Given the description of an element on the screen output the (x, y) to click on. 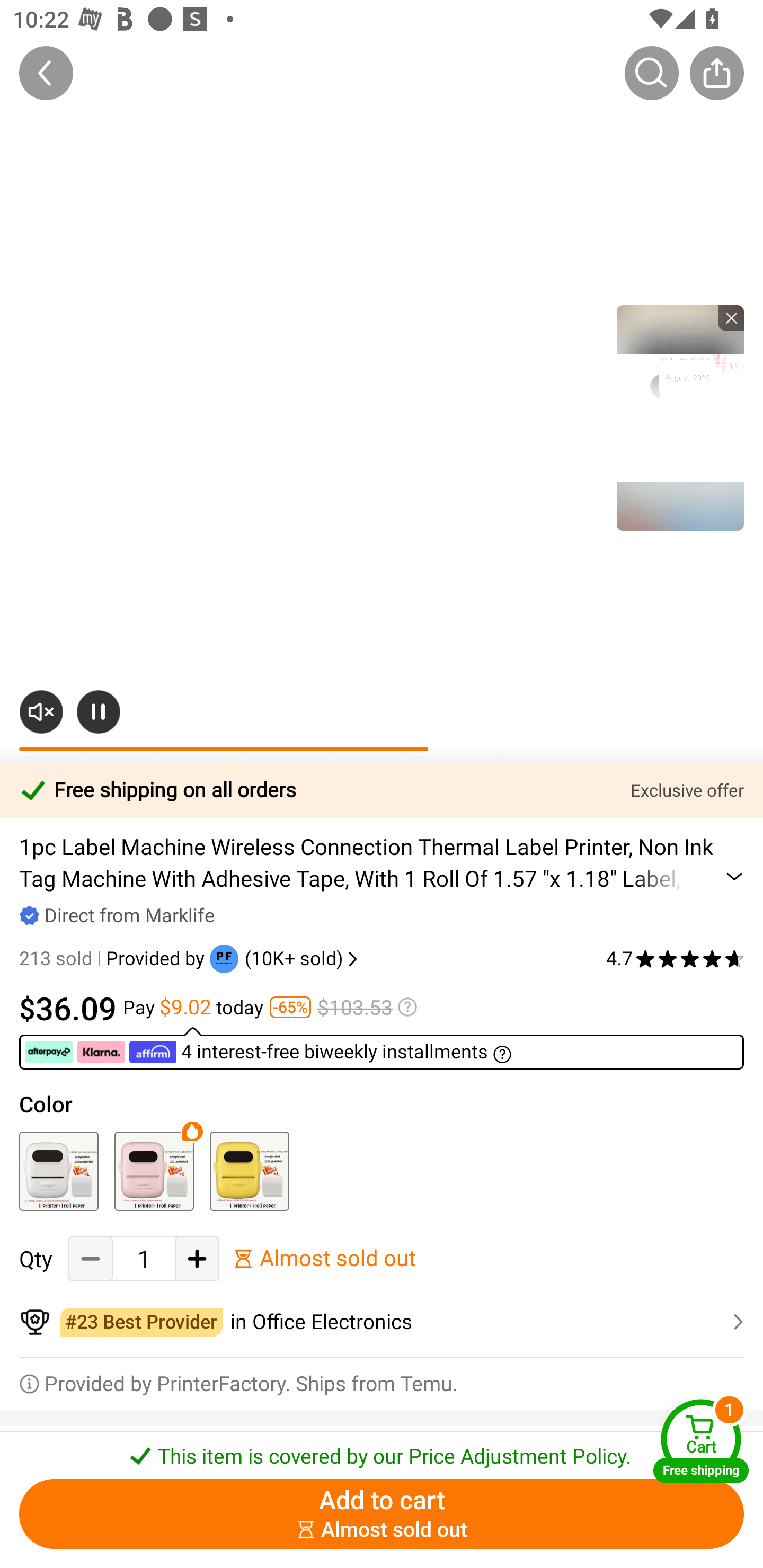
Back (46, 72)
Share (716, 72)
tronplayer_view (680, 417)
Free shipping on all orders Exclusive offer (381, 790)
213 sold Provided by  (114, 958)
4.7 (674, 958)
￼ ￼ ￼ 4 interest-free biweekly installments ￼ (381, 1048)
White (58, 1171)
pink   (153, 1171)
Yellow (249, 1171)
Decrease Quantity Button (90, 1259)
1 (143, 1259)
Add Quantity button (196, 1259)
￼￼in Office Electronics (381, 1322)
Cart Free shipping Cart (701, 1440)
Add to cart ￼￼Almost sold out (381, 1513)
